Given the description of an element on the screen output the (x, y) to click on. 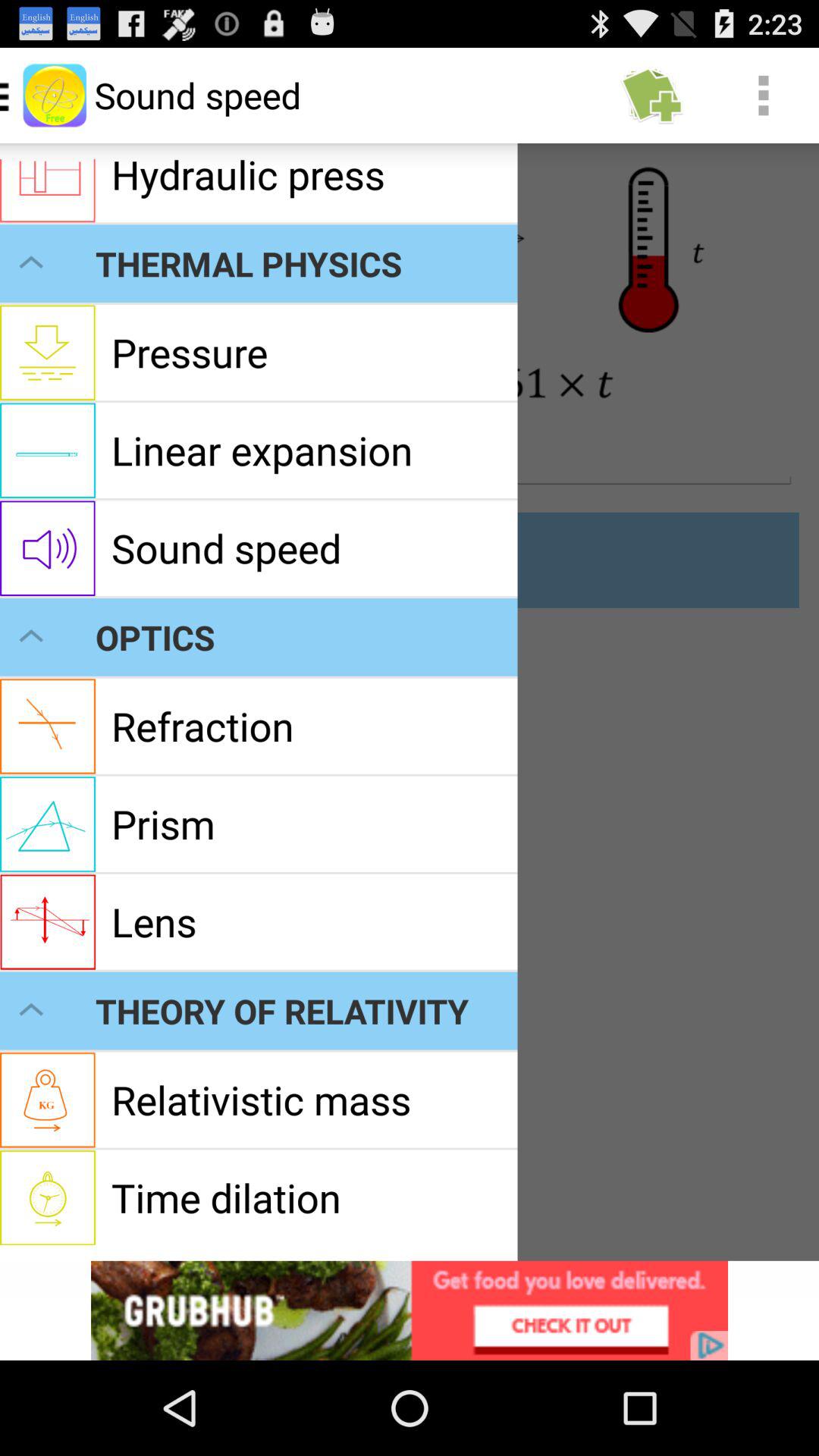
select the image which is left to the sound speed (54, 95)
